Given the description of an element on the screen output the (x, y) to click on. 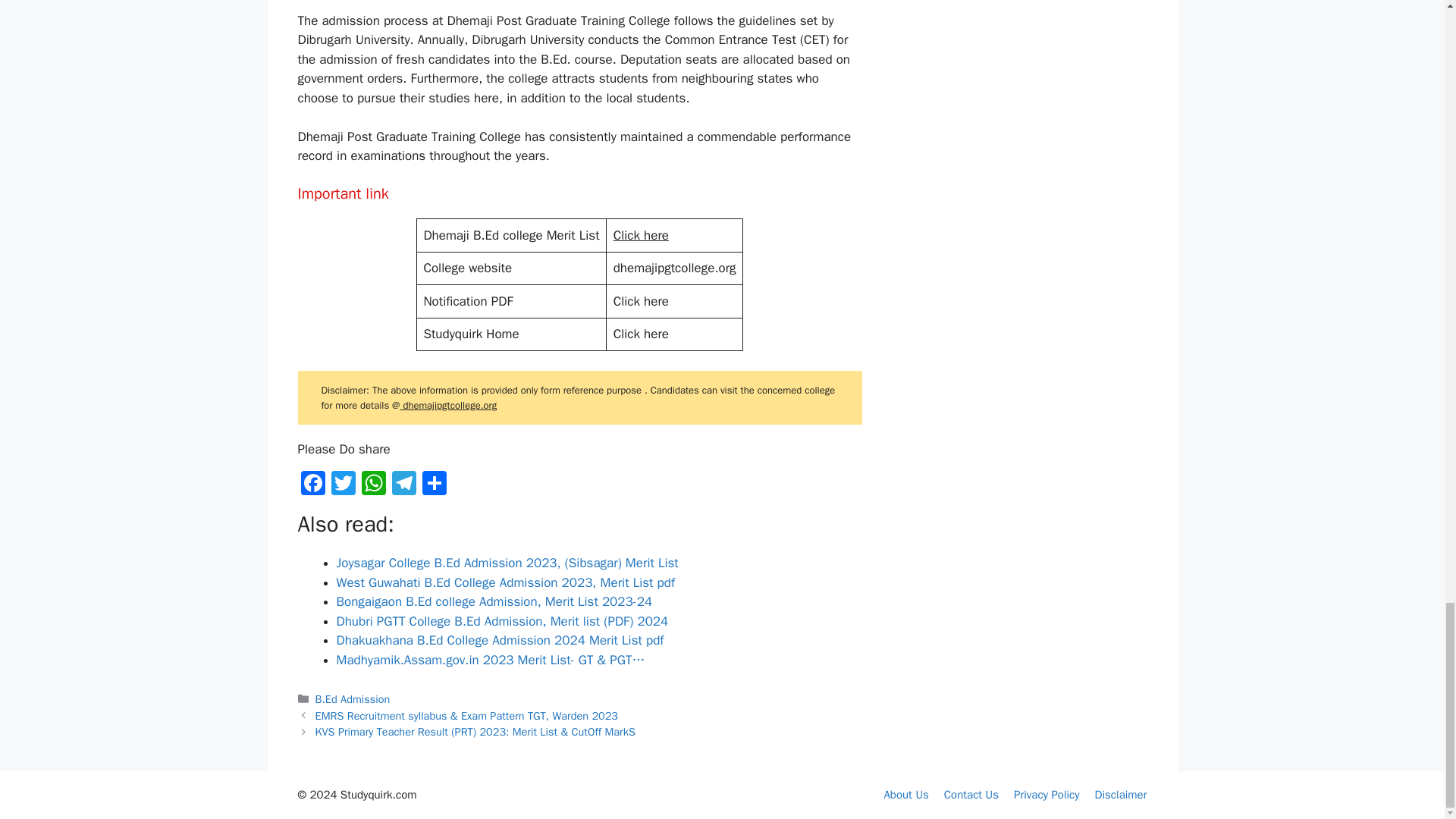
Bongaigaon B.Ed college Admission, Merit List 2023-24 (494, 601)
WhatsApp (373, 484)
Facebook (312, 484)
Twitter (342, 484)
Telegram (403, 484)
Facebook (312, 484)
WhatsApp (373, 484)
Telegram (403, 484)
Twitter (342, 484)
West Guwahati B.Ed College Admission 2023, Merit List pdf (505, 582)
